Given the description of an element on the screen output the (x, y) to click on. 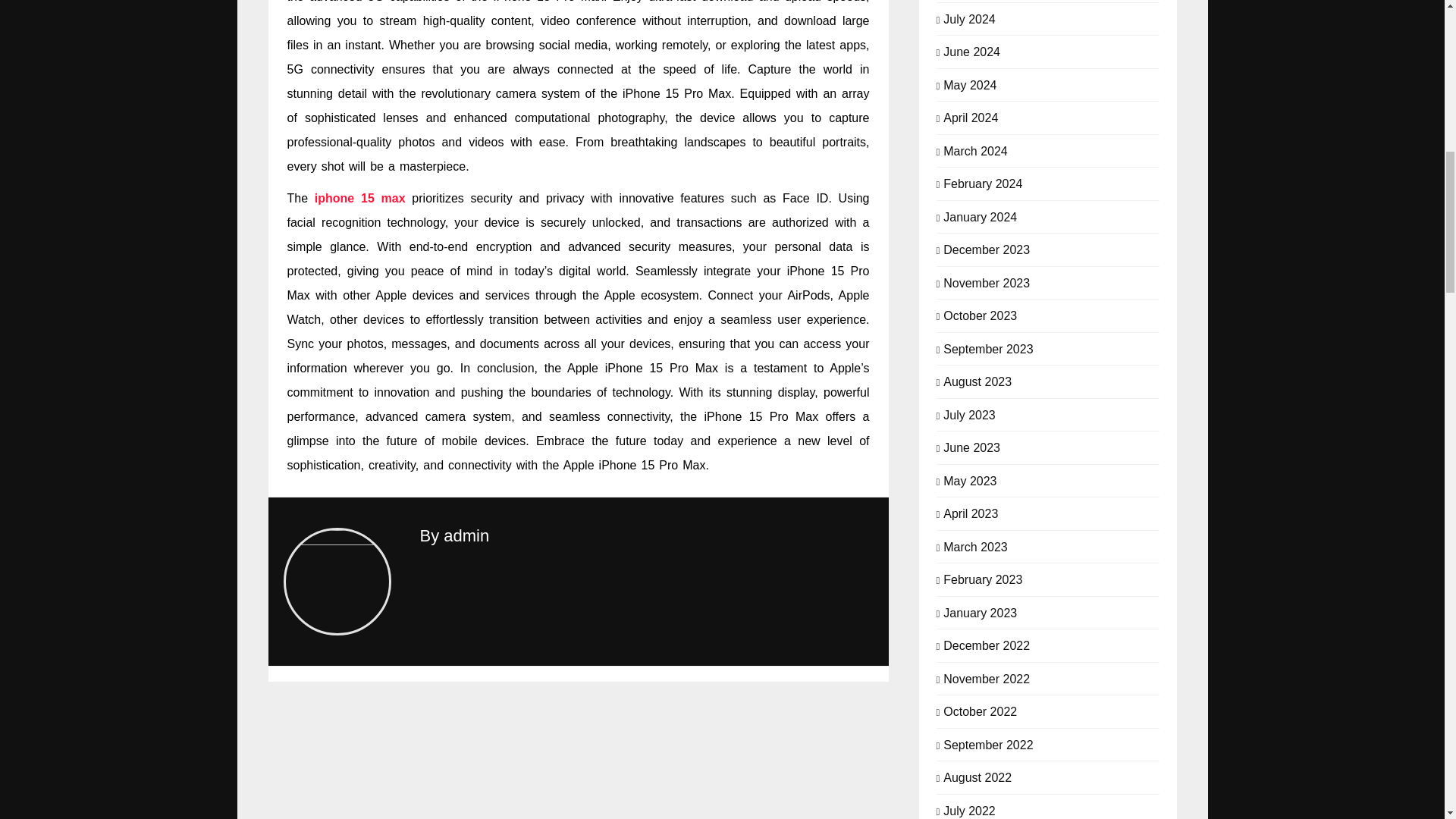
July 2024 (969, 17)
October 2022 (979, 710)
March 2024 (975, 150)
January 2023 (979, 611)
February 2023 (982, 578)
May 2023 (969, 478)
July 2022 (969, 809)
January 2024 (979, 215)
December 2022 (986, 644)
September 2022 (987, 743)
